Given the description of an element on the screen output the (x, y) to click on. 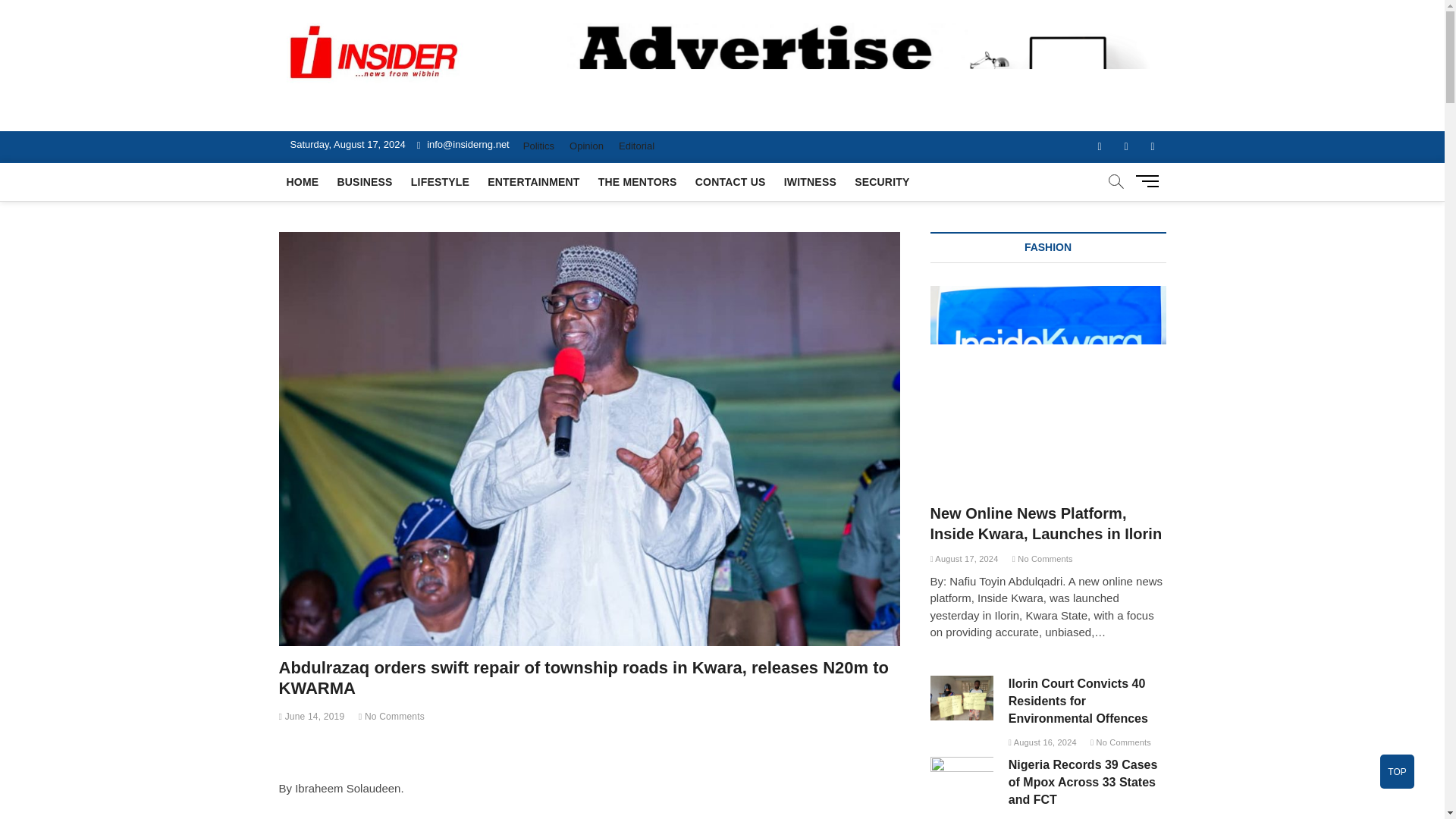
SECURITY (882, 181)
Opinion (586, 146)
August 16, 2024 (1043, 741)
June 14, 2019 (312, 716)
twitter (1126, 146)
Editorial (636, 146)
Mail Us (462, 143)
BUSINESS (363, 181)
New Online News Platform, Inside Kwara, Launches in Ilorin (1048, 368)
